Given the description of an element on the screen output the (x, y) to click on. 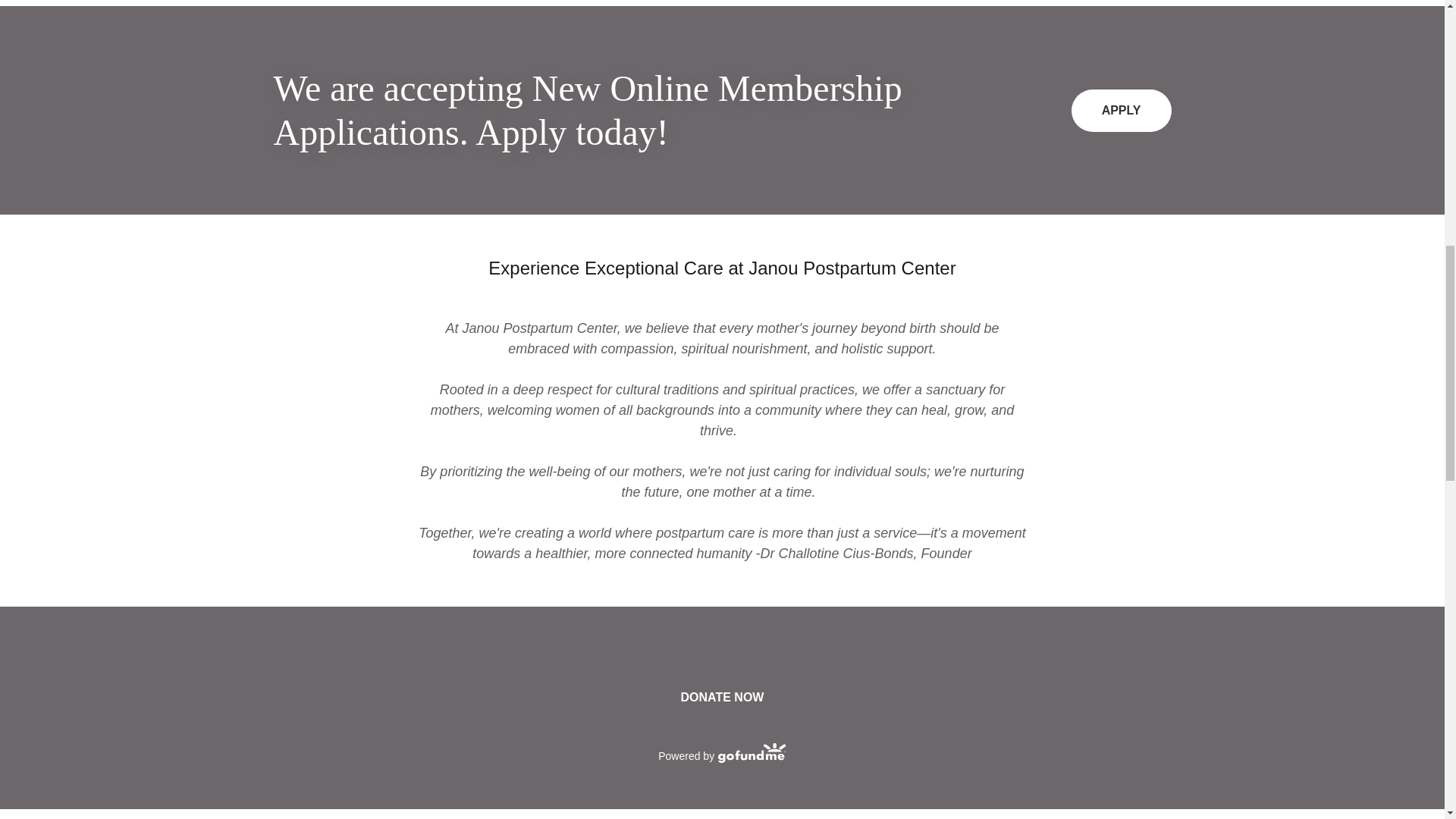
ACCEPT (1274, 324)
DONATE NOW (722, 697)
APPLY (1121, 110)
